Given the description of an element on the screen output the (x, y) to click on. 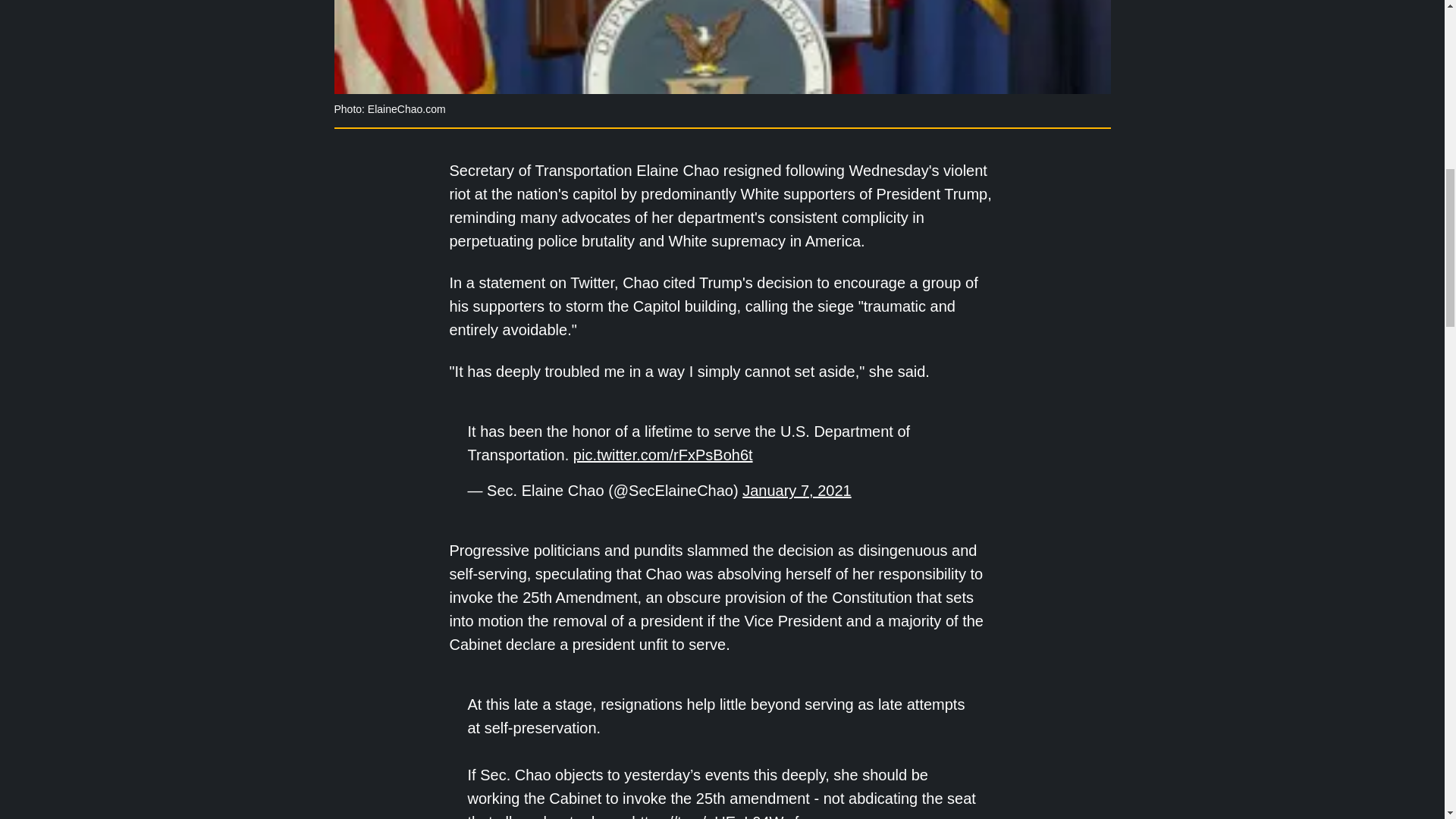
January 7, 2021 (796, 490)
